Given the description of an element on the screen output the (x, y) to click on. 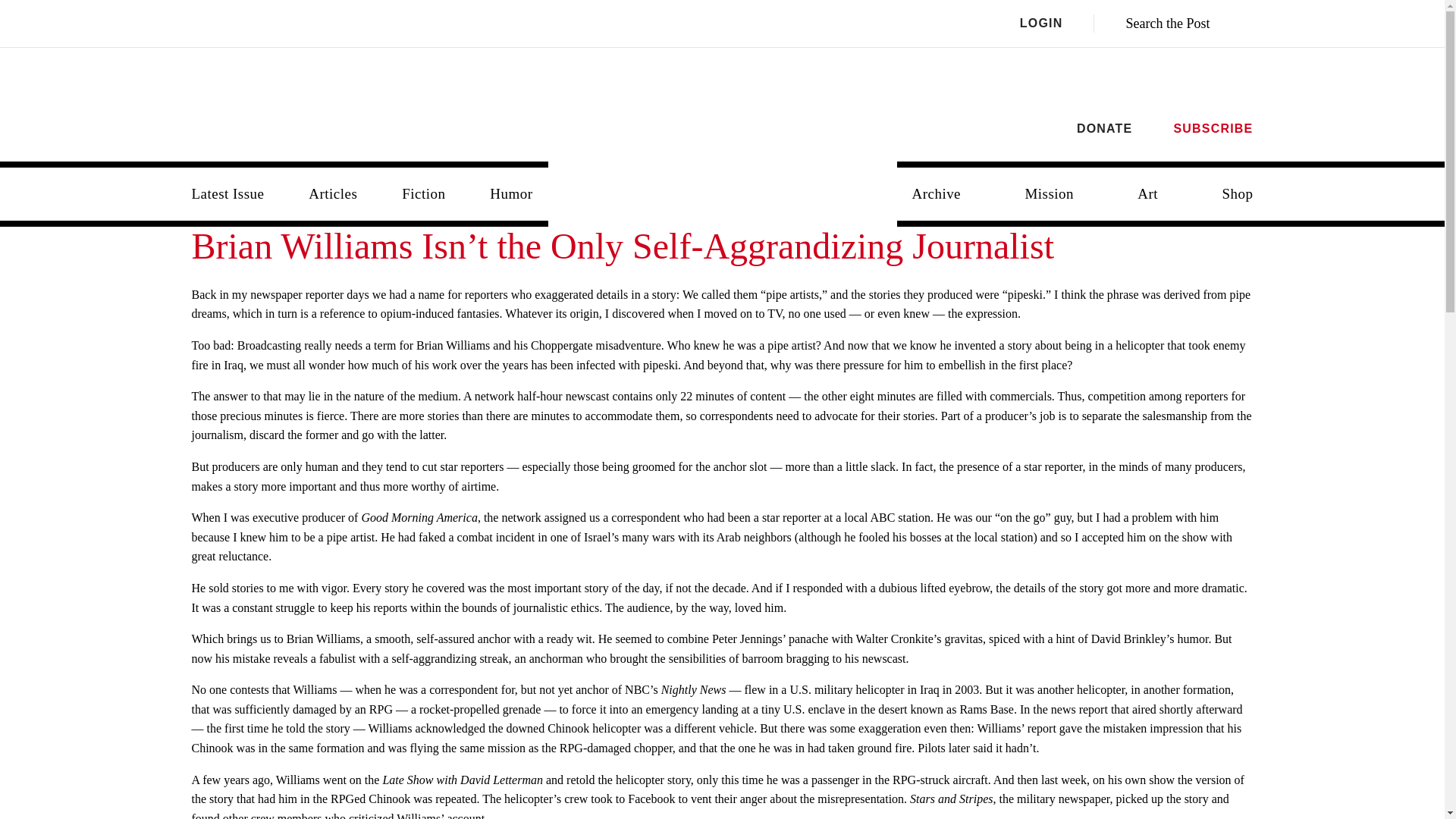
Mission (1049, 193)
Humor (510, 193)
SUBSCRIBE (1212, 128)
Art (1147, 193)
DONATE (1104, 128)
LOGIN (1057, 23)
Fiction (423, 193)
Shop (1237, 193)
Latest Issue (227, 193)
Archive (935, 193)
